Given the description of an element on the screen output the (x, y) to click on. 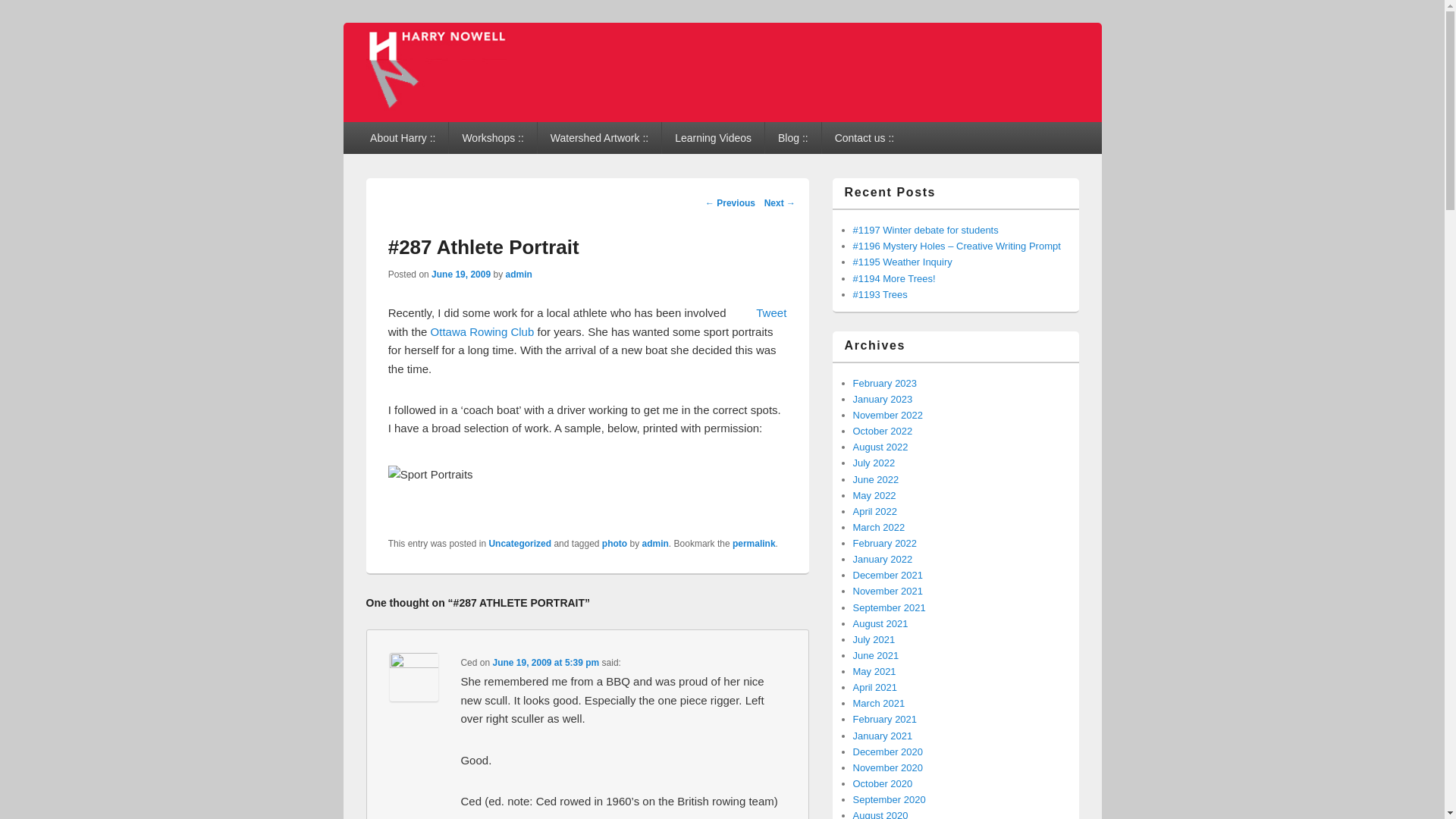
August 2022 (879, 446)
Tweet (770, 312)
December 2021 (887, 574)
permalink (754, 543)
photo (614, 543)
admin (655, 543)
Watershed Artwork :: (599, 137)
June 2022 (874, 479)
About Harry :: (402, 137)
January 2023 (881, 398)
